Given the description of an element on the screen output the (x, y) to click on. 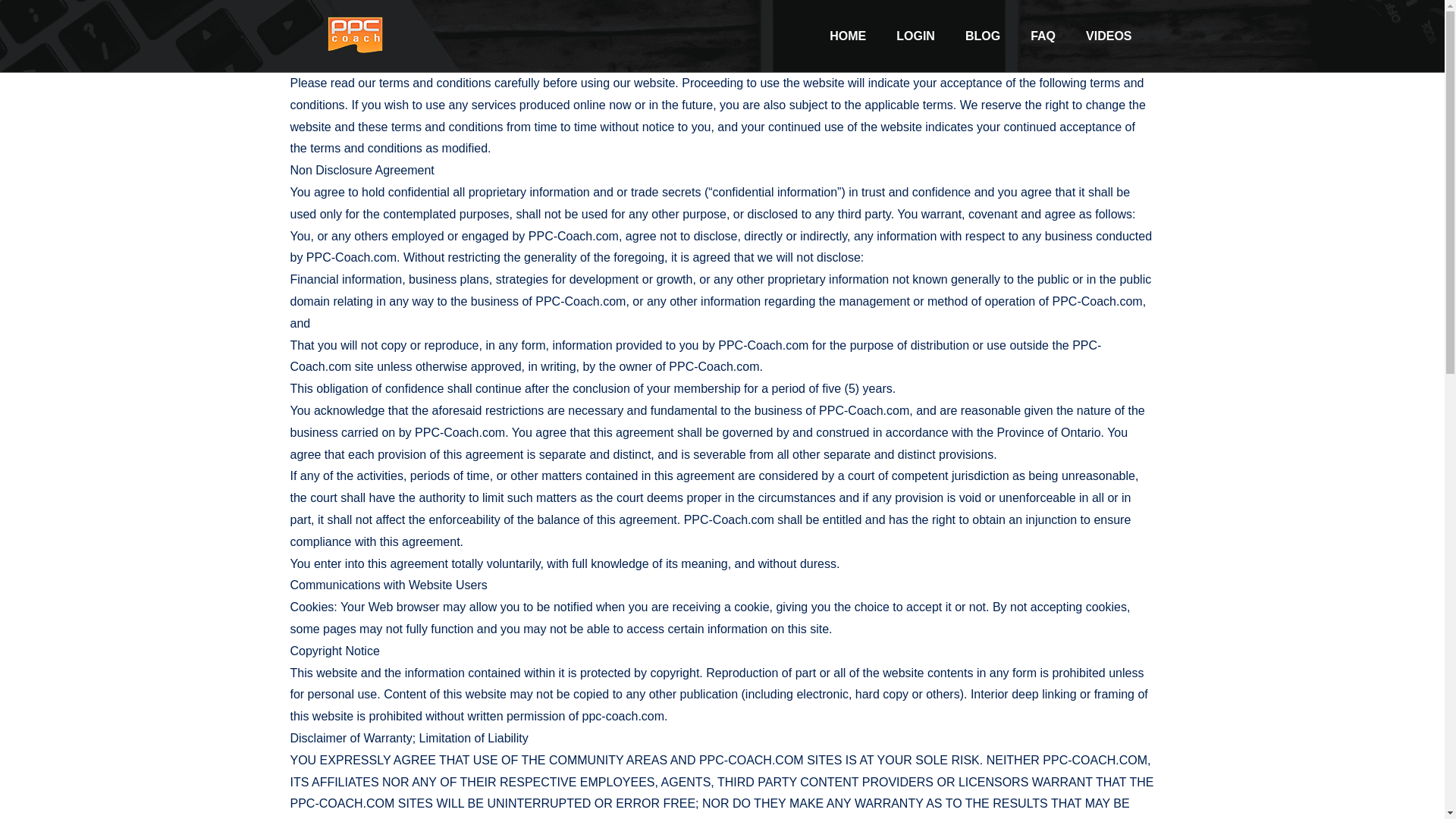
VIDEOS (1108, 35)
BLOG (982, 35)
LOGIN (915, 35)
HOME (846, 35)
FAQ (1042, 35)
